Given the description of an element on the screen output the (x, y) to click on. 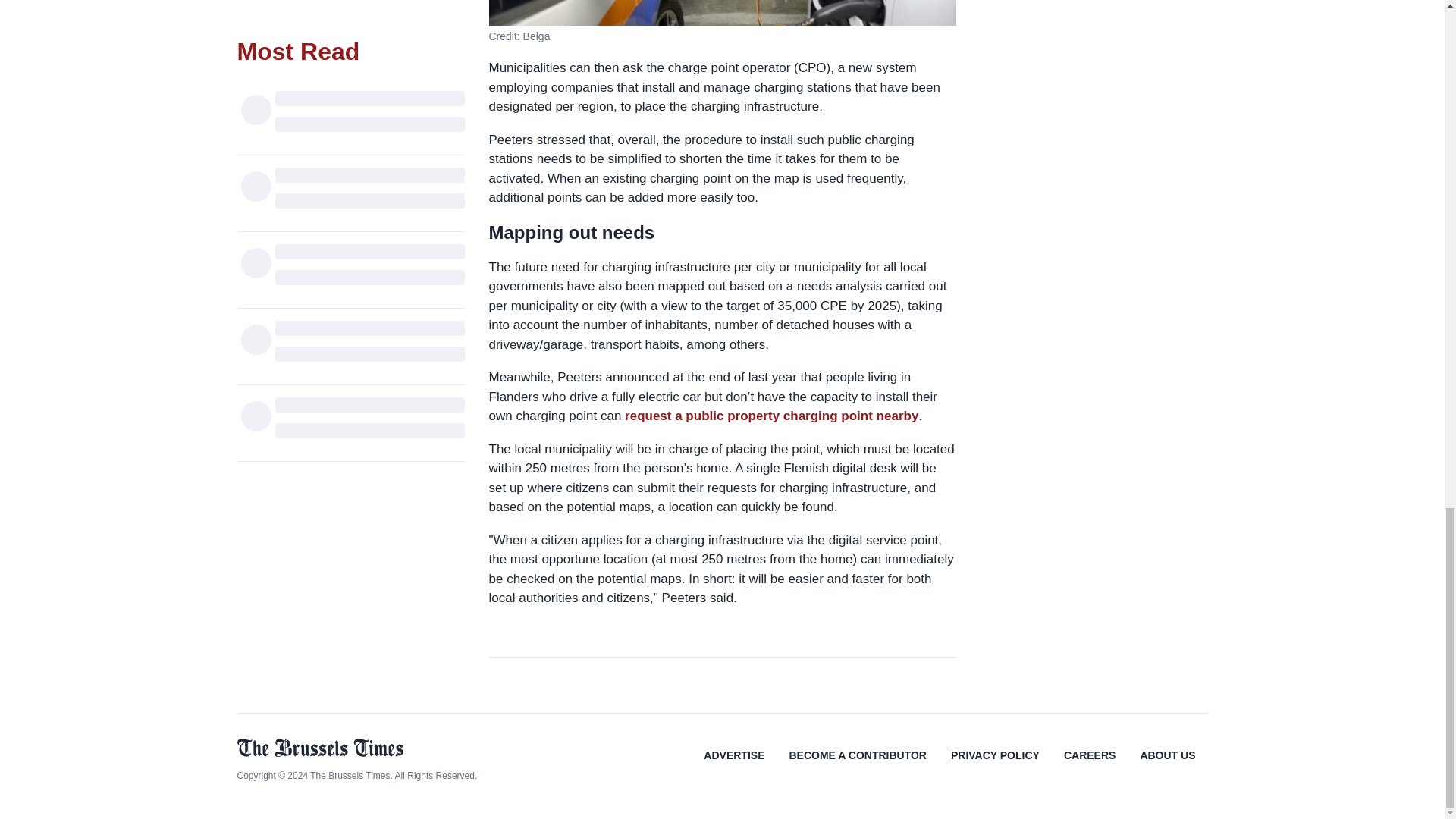
ABOUT US (1166, 766)
PRIVACY POLICY (995, 766)
request a public property charging point nearby (771, 415)
BECOME A CONTRIBUTOR (856, 766)
ADVERTISE (733, 766)
CAREERS (1088, 766)
